Given the description of an element on the screen output the (x, y) to click on. 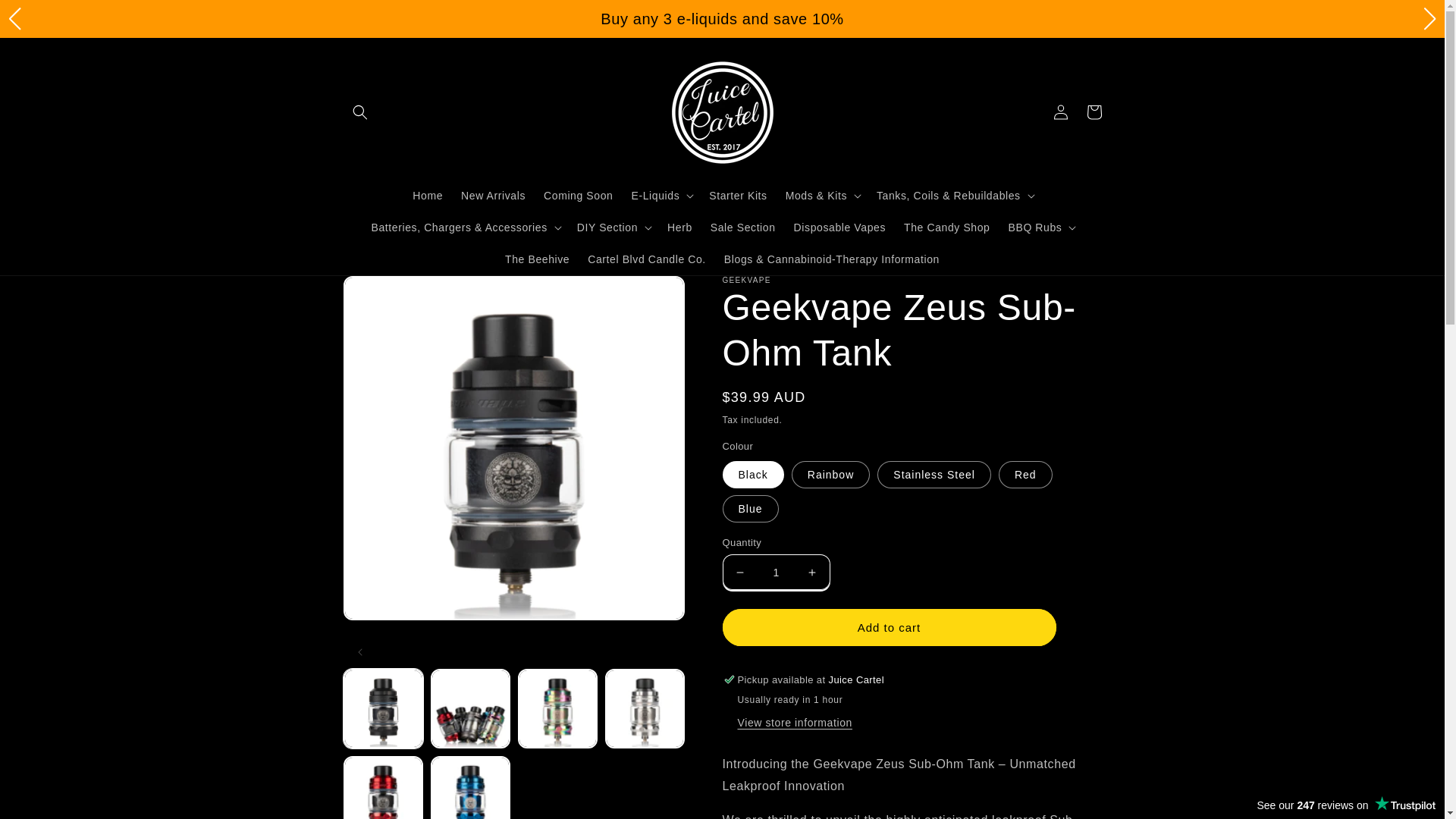
Home Element type: text (427, 194)
Disposable Vapes Element type: text (839, 227)
Herb Element type: text (679, 227)
Coming Soon Element type: text (577, 194)
The Beehive Element type: text (536, 259)
View store information Element type: text (794, 723)
Log in Element type: text (1059, 111)
Cartel Blvd Candle Co. Element type: text (646, 259)
Starter Kits Element type: text (737, 194)
Cart Element type: text (1093, 111)
The Candy Shop Element type: text (946, 227)
Skip to product information Element type: text (389, 293)
Increase quantity for Geekvape Zeus Sub-Ohm Tank Element type: text (811, 571)
Decrease quantity for Geekvape Zeus Sub-Ohm Tank Element type: text (740, 571)
New Arrivals Element type: text (492, 194)
Buy any 3 e-liquids and save 10% Element type: text (722, 19)
Add to cart Element type: text (888, 627)
Blogs & Cannabinoid-Therapy Information Element type: text (831, 259)
Sale Section Element type: text (742, 227)
